Given the description of an element on the screen output the (x, y) to click on. 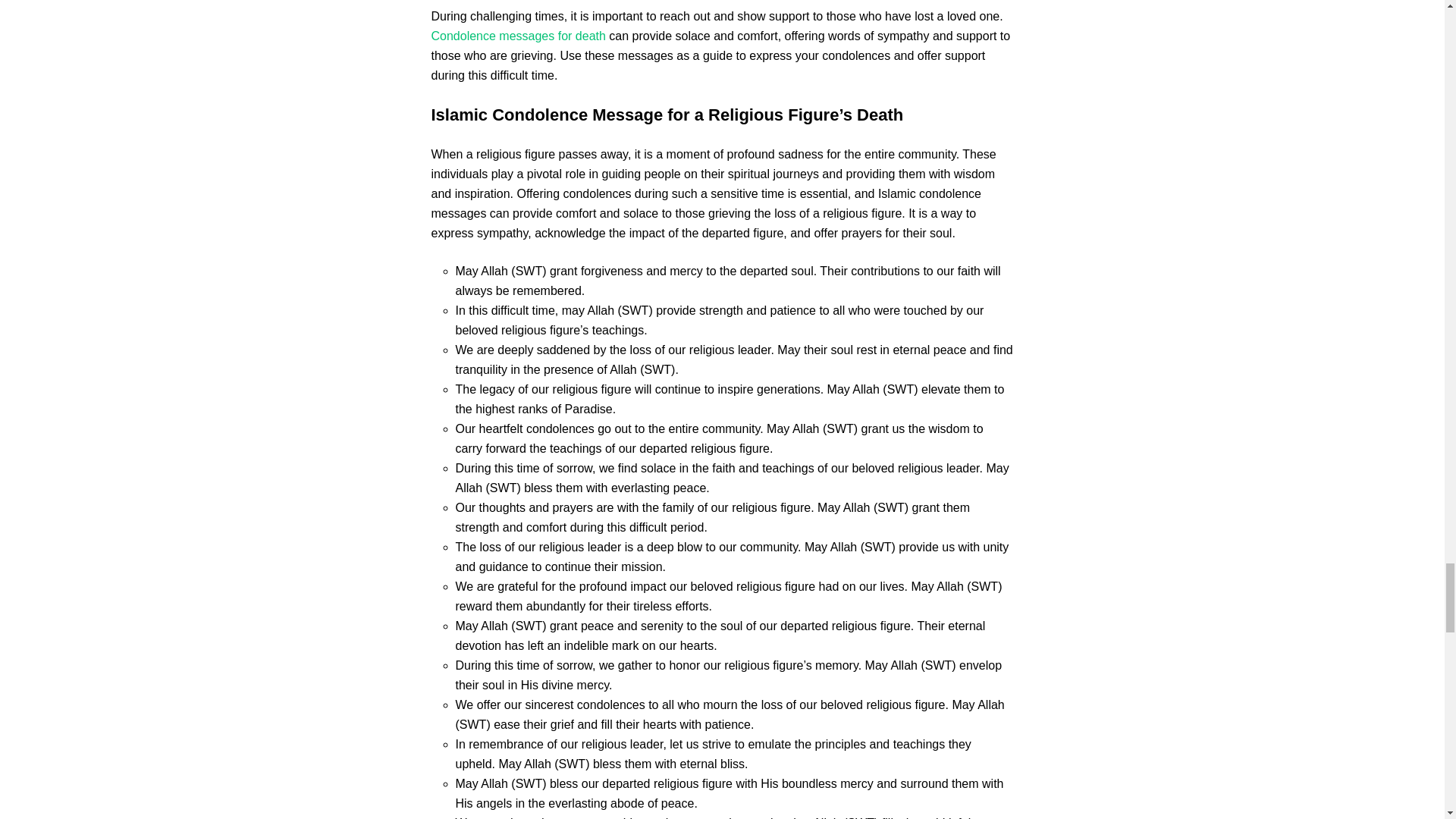
Condolence messages for death (517, 35)
